Given the description of an element on the screen output the (x, y) to click on. 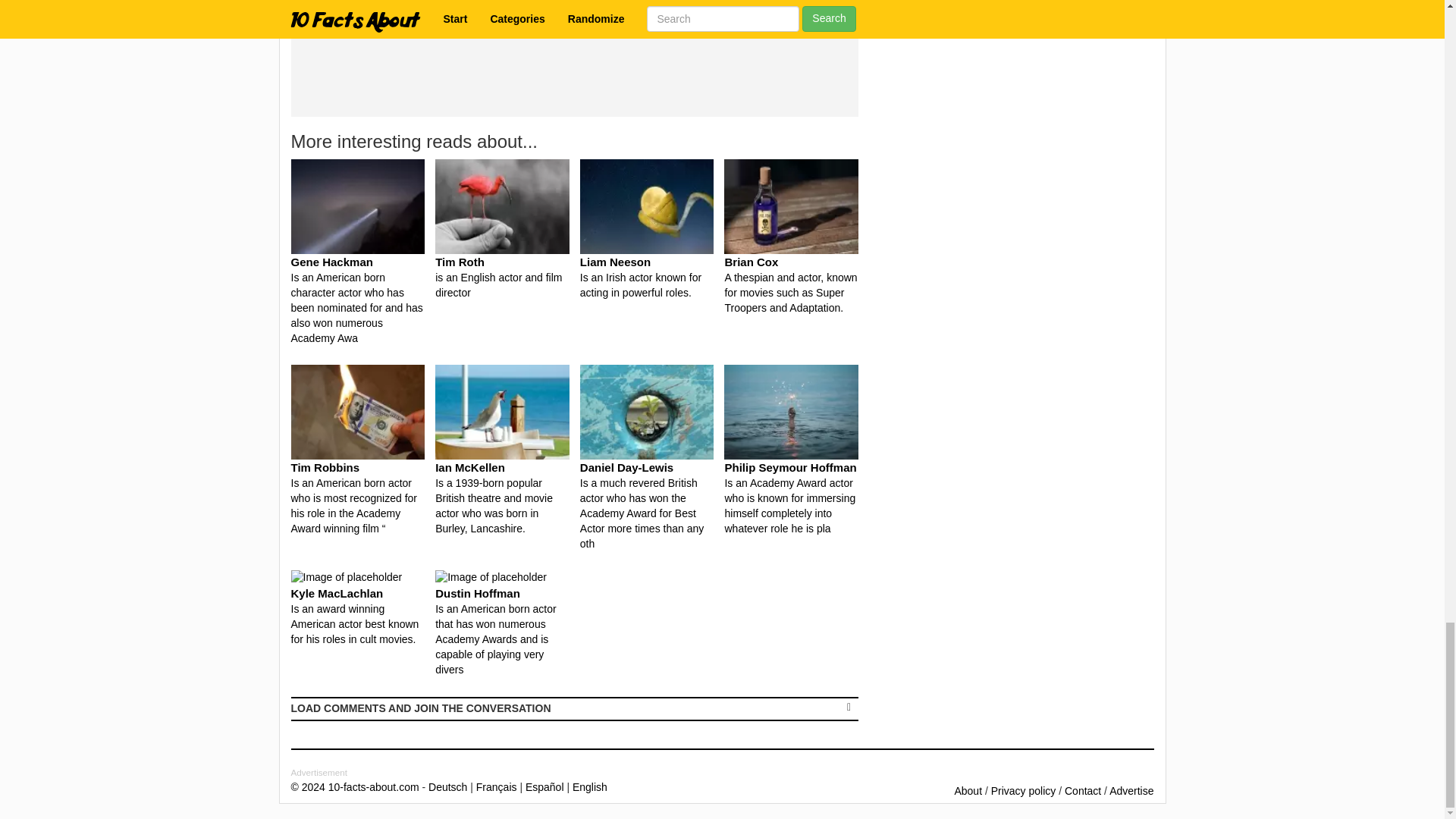
10 facts about (355, 785)
Deutsch (447, 785)
Privacy policy (1024, 788)
Advertise at 10 facts about (1131, 788)
English (589, 785)
About 10 facts about (967, 788)
Contact us (1082, 788)
About (967, 788)
